Given the description of an element on the screen output the (x, y) to click on. 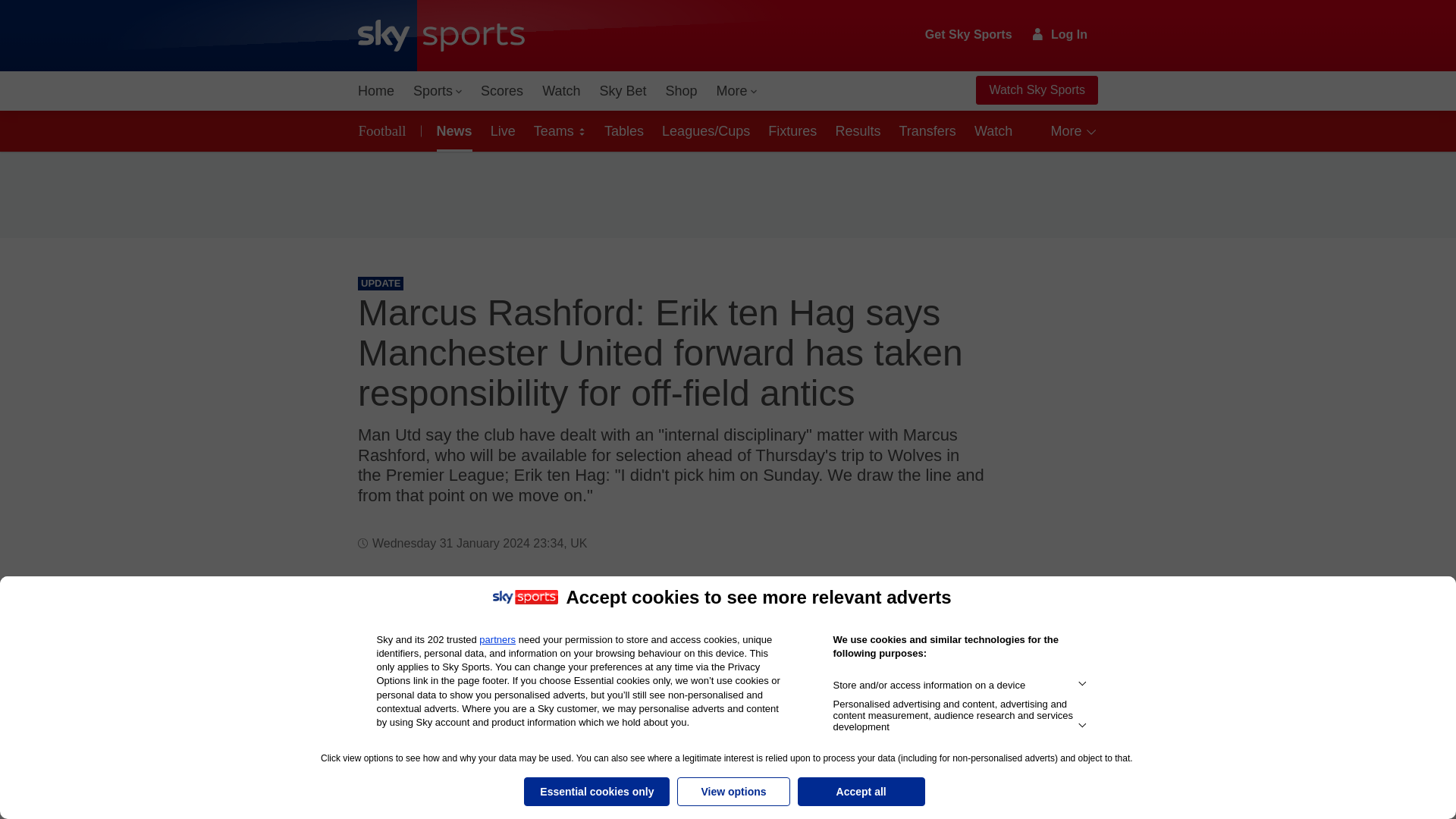
Log In (1060, 33)
Sky Bet (622, 91)
Scores (502, 91)
Sports (437, 91)
Home (375, 91)
News (451, 130)
Watch (561, 91)
More (736, 91)
Get Sky Sports (968, 34)
Watch Sky Sports (1036, 90)
